Given the description of an element on the screen output the (x, y) to click on. 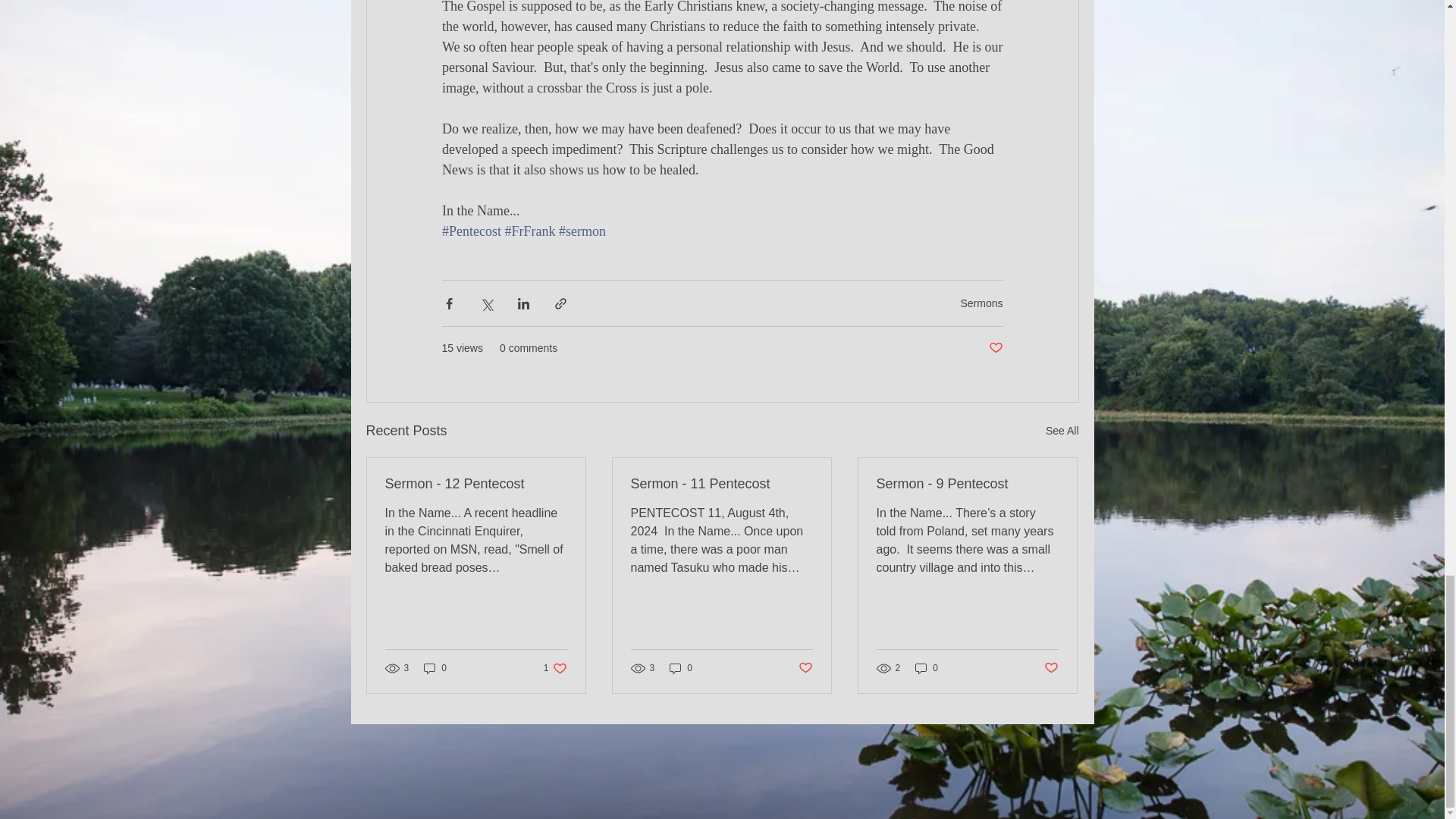
Post not marked as liked (995, 348)
Sermon - 12 Pentecost (476, 483)
0 (681, 667)
Sermons (981, 302)
Sermon - 9 Pentecost (967, 483)
See All (555, 667)
Post not marked as liked (1061, 431)
0 (804, 668)
Sermon - 11 Pentecost (435, 667)
